Given the description of an element on the screen output the (x, y) to click on. 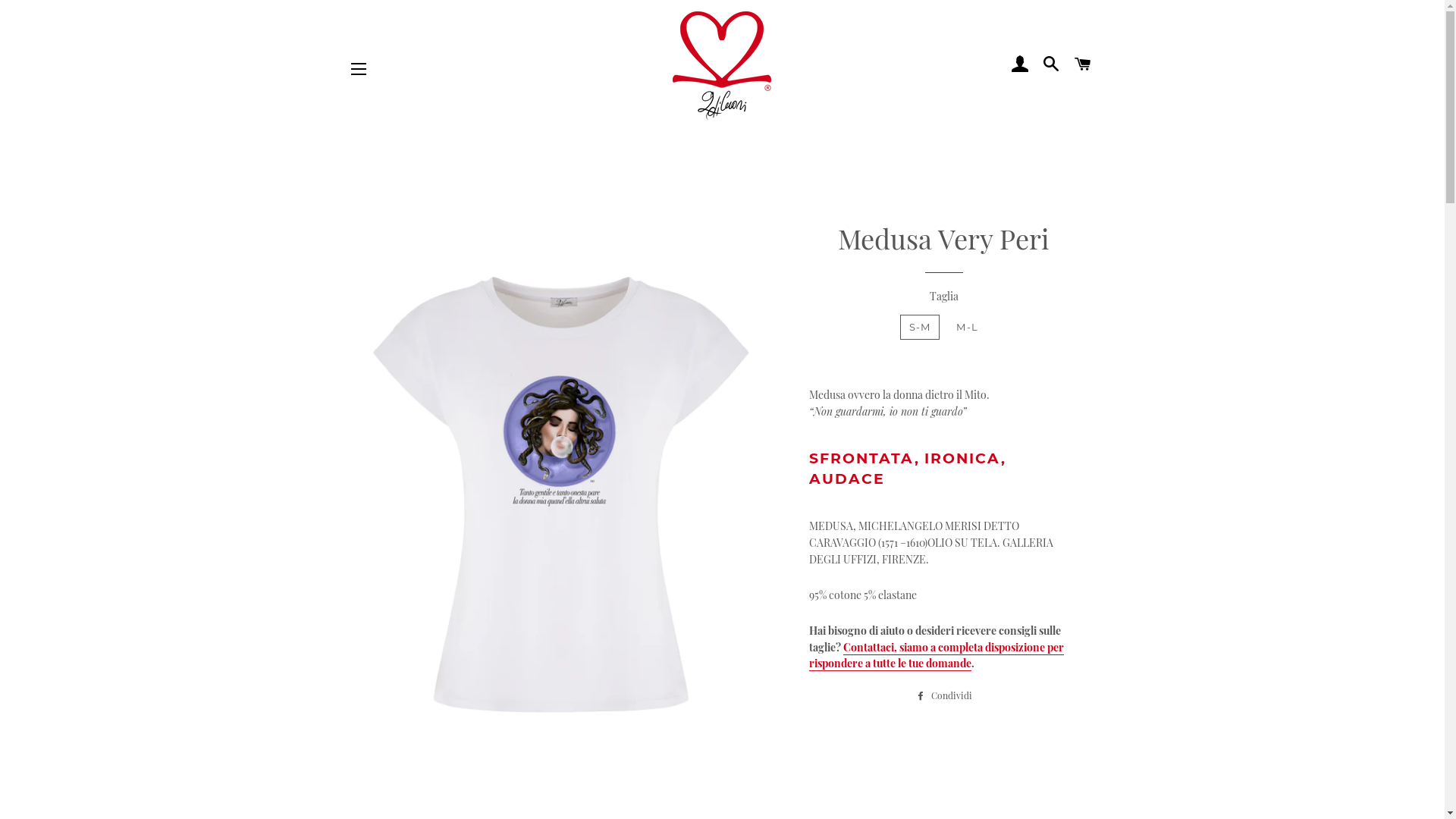
Condividi
Condividi su Facebook Element type: text (943, 695)
Navigazione del sito Element type: text (358, 68)
Carrello Element type: text (1082, 64)
Cerca Element type: text (1051, 64)
Accedi Element type: text (1019, 64)
